Given the description of an element on the screen output the (x, y) to click on. 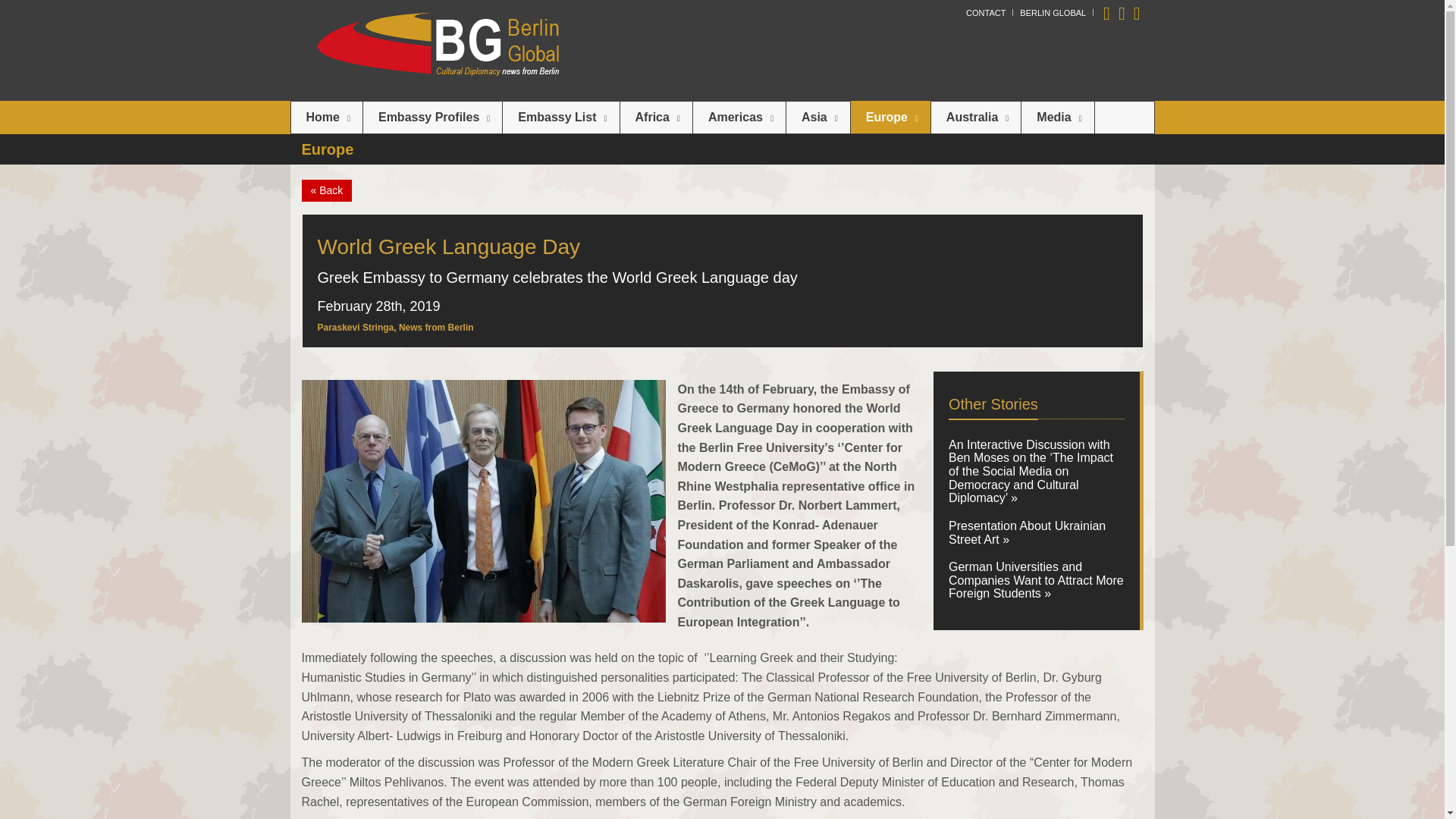
Embassy List (560, 116)
Media (1057, 116)
Americas (739, 116)
Embassy Profiles (432, 116)
Asia (818, 116)
Home (326, 116)
Embassy Profiles (432, 116)
Africa (656, 116)
Europe (890, 116)
Africa (656, 116)
Asia (818, 116)
Embassy List (560, 116)
CONTACT (986, 12)
Flickr (1136, 12)
Home (326, 116)
